Given the description of an element on the screen output the (x, y) to click on. 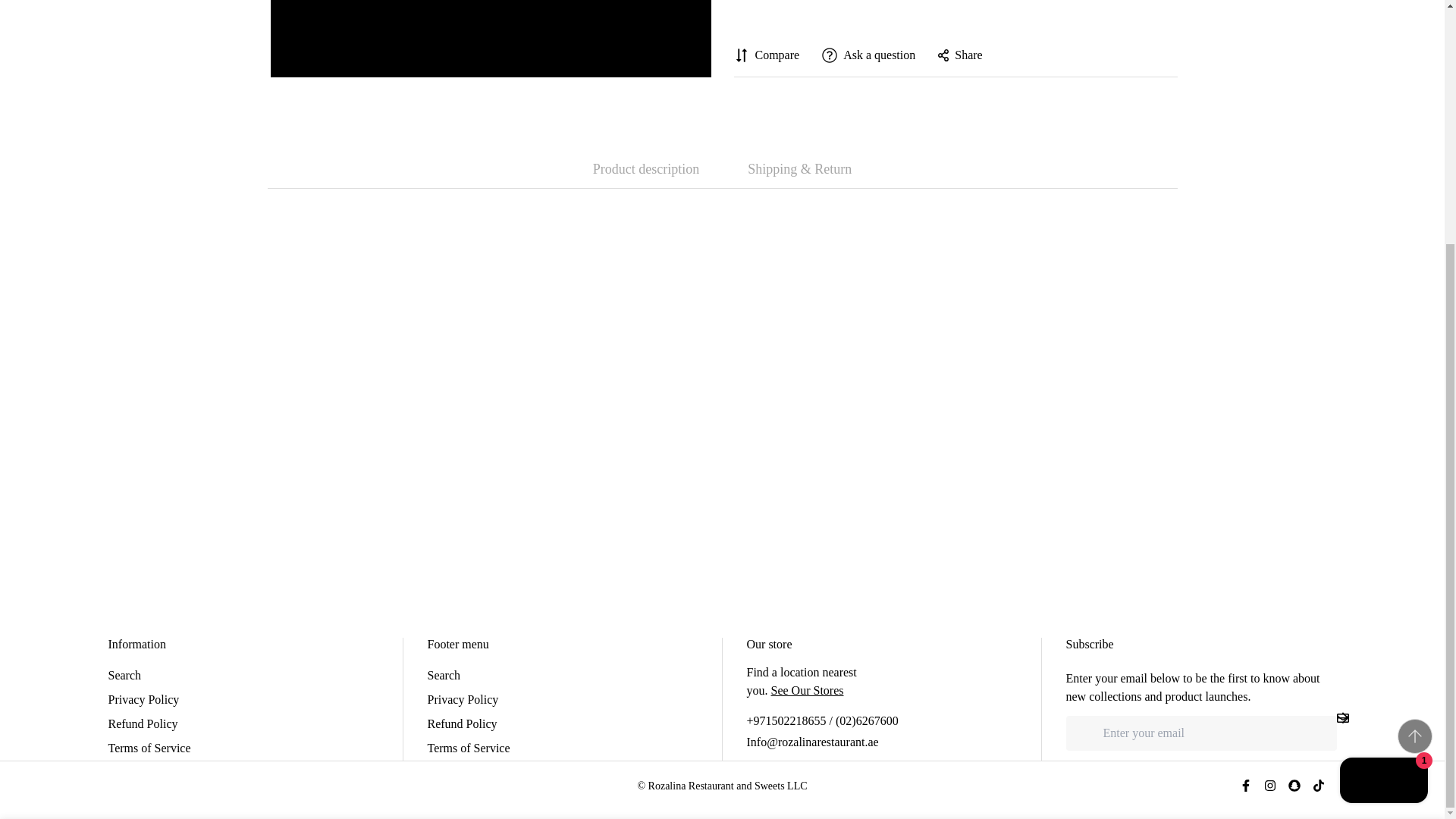
1 (990, 508)
Shopify online store chat (1383, 443)
